Given the description of an element on the screen output the (x, y) to click on. 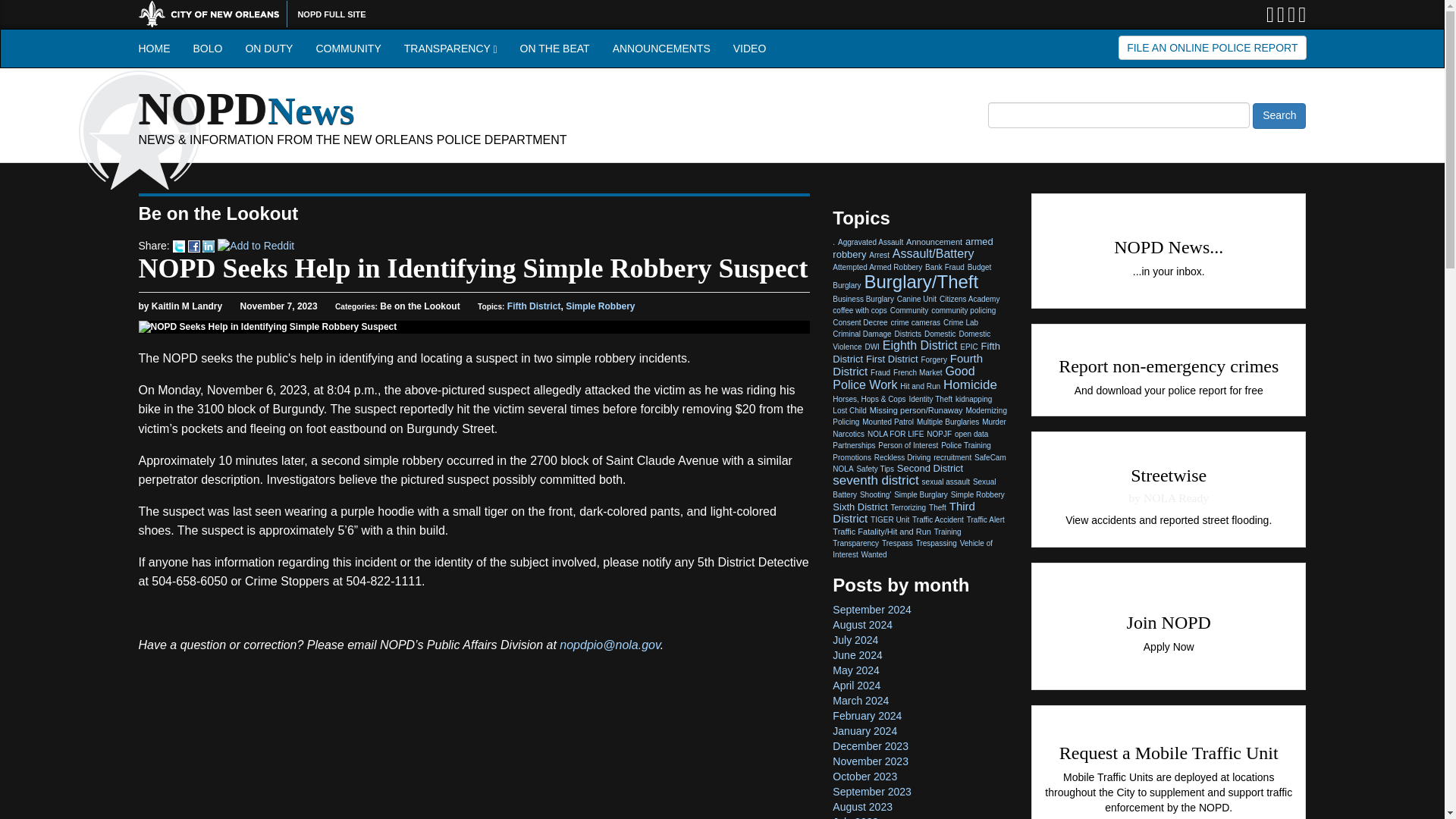
Add to Facebook (193, 245)
Add to Twitter (178, 245)
NOPD FULL SITE (331, 13)
Simple Robbery (600, 306)
Add to LinkedIn (208, 245)
Announcement (933, 241)
ANNOUNCEMENTS (661, 48)
Attempted Armed Robbery (876, 266)
HOME (155, 48)
Search (1279, 115)
